Given the description of an element on the screen output the (x, y) to click on. 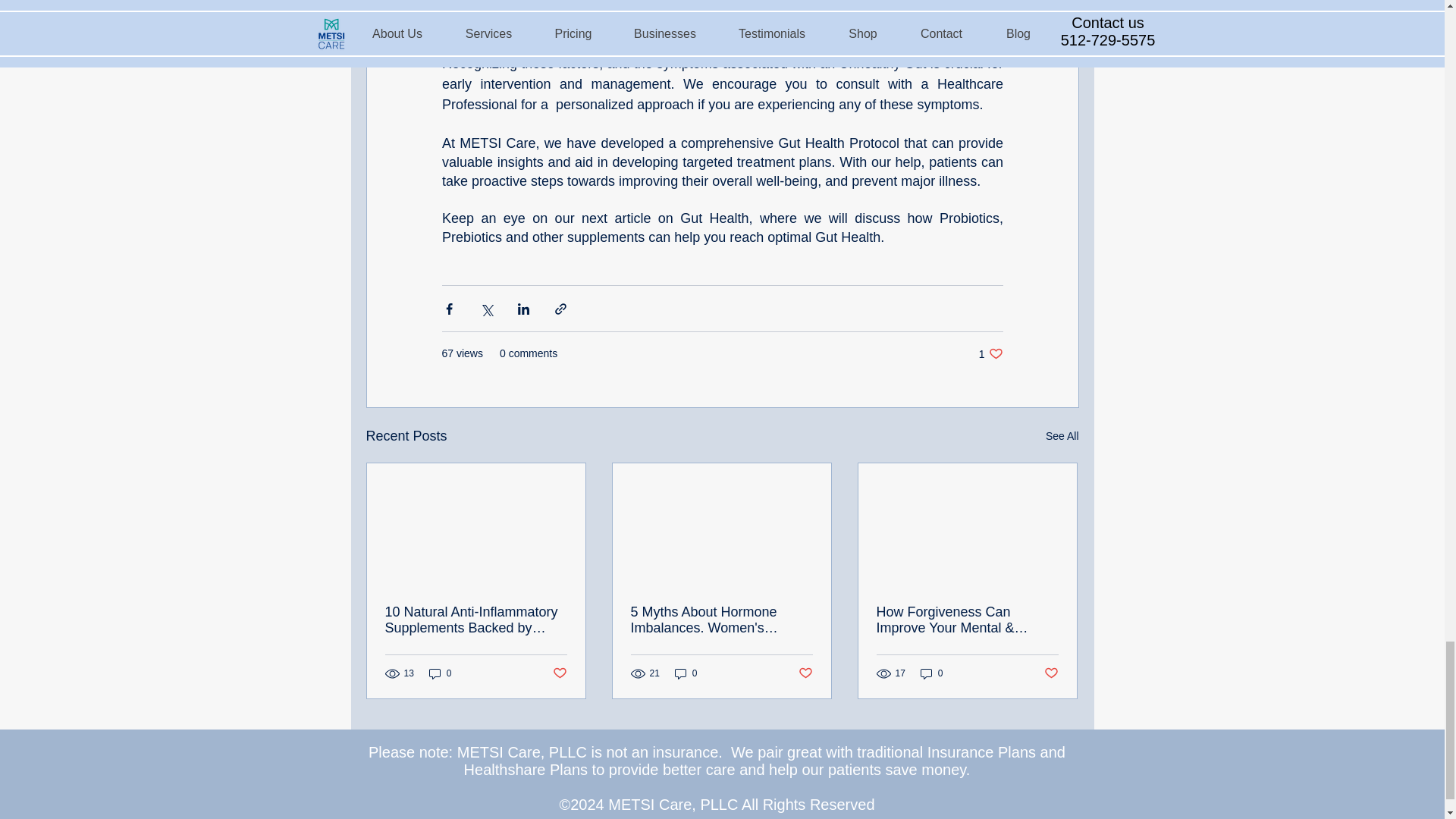
0 (685, 673)
Post not marked as liked (804, 673)
Post not marked as liked (558, 673)
10 Natural Anti-Inflammatory Supplements Backed by Science (476, 620)
0 (440, 673)
0 (990, 353)
See All (931, 673)
Post not marked as liked (1061, 436)
